Given the description of an element on the screen output the (x, y) to click on. 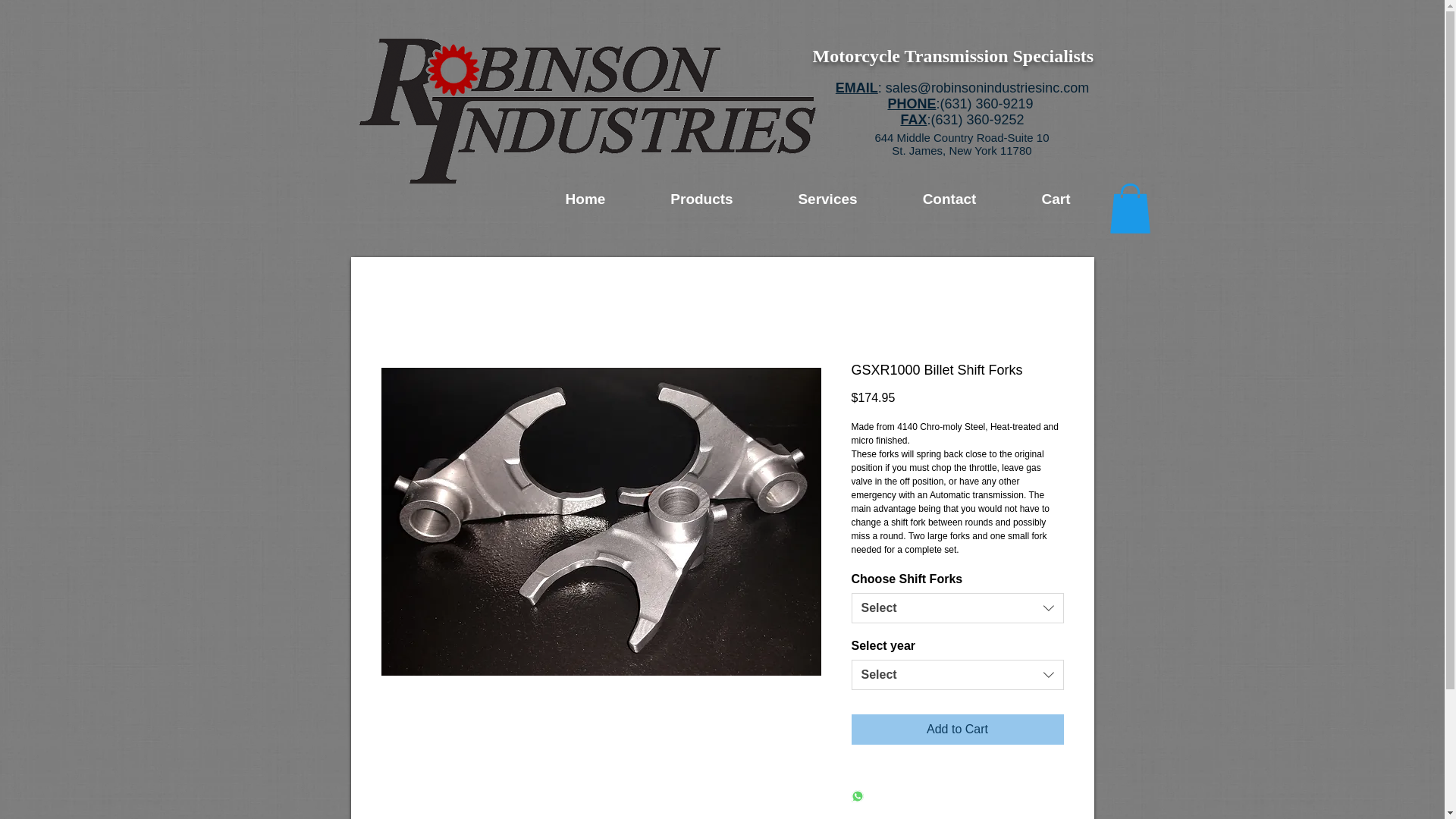
Select (956, 675)
Robinson Logo.png (587, 110)
Services (827, 199)
Cart (1055, 199)
Select (956, 607)
Contact (949, 199)
Home (584, 199)
Add to Cart (956, 729)
Products (702, 199)
